Given the description of an element on the screen output the (x, y) to click on. 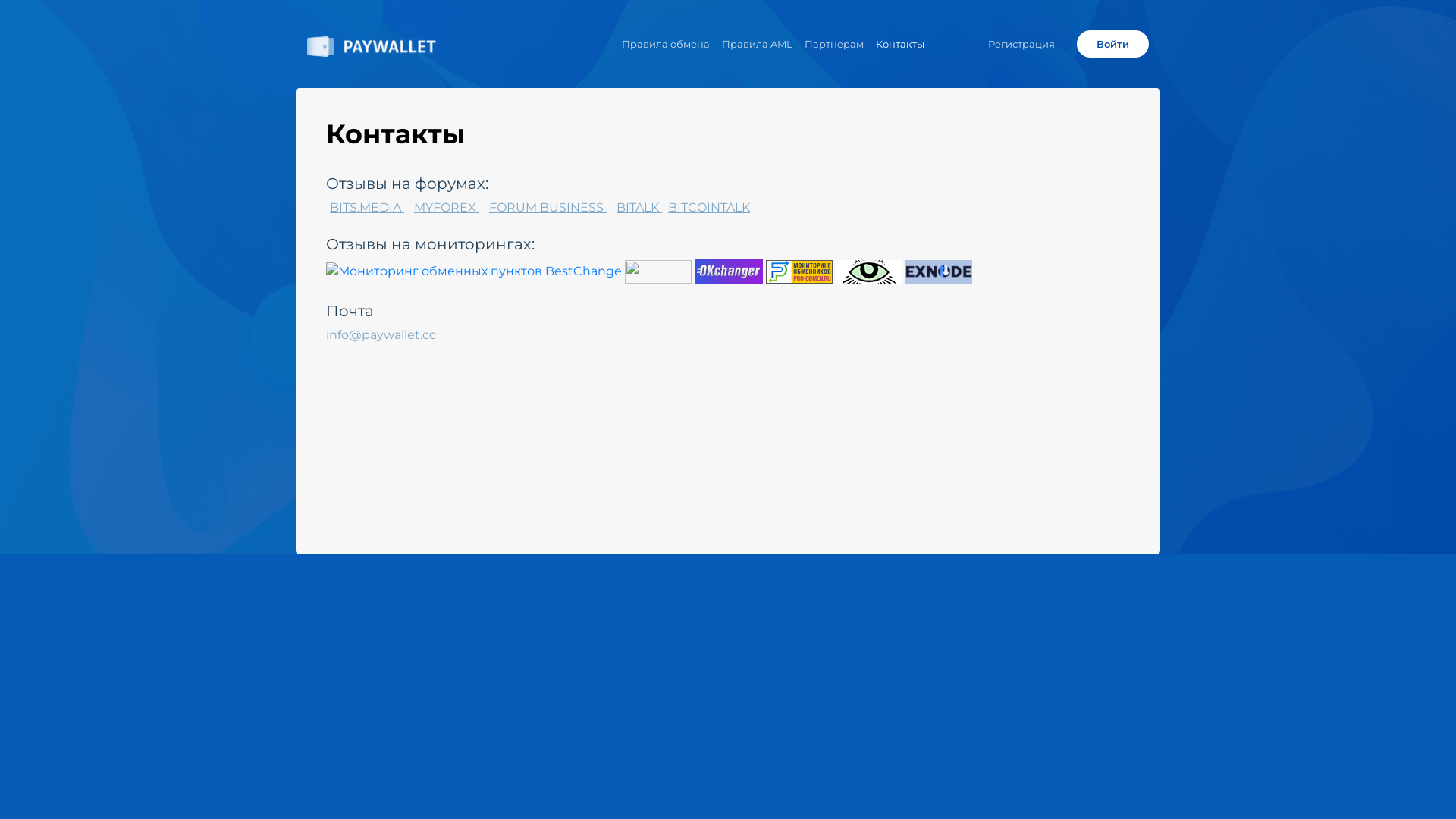
FORUM BUSINESS Element type: text (547, 207)
info@paywallet.cc Element type: text (381, 334)
BITCOINTALK Element type: text (708, 207)
MYFOREX Element type: text (446, 207)
BITS.MEDIA Element type: text (366, 207)
BITALK Element type: text (639, 207)
